Given the description of an element on the screen output the (x, y) to click on. 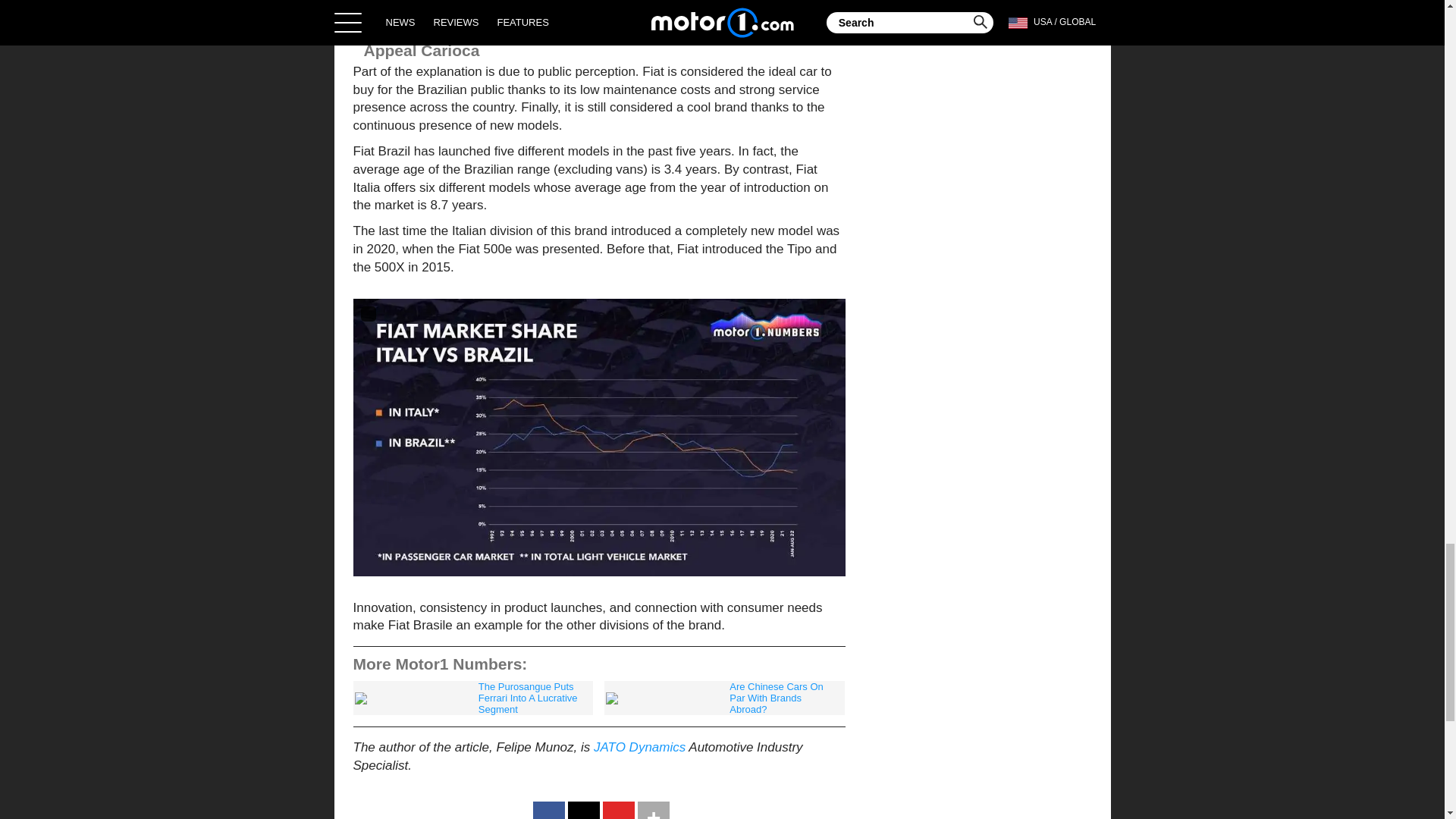
The Purosangue Puts Ferrari Into A Lucrative Segment (473, 697)
Are Chinese Cars On Par With Brands Abroad? (724, 697)
JATO Dynamics (639, 747)
